Given the description of an element on the screen output the (x, y) to click on. 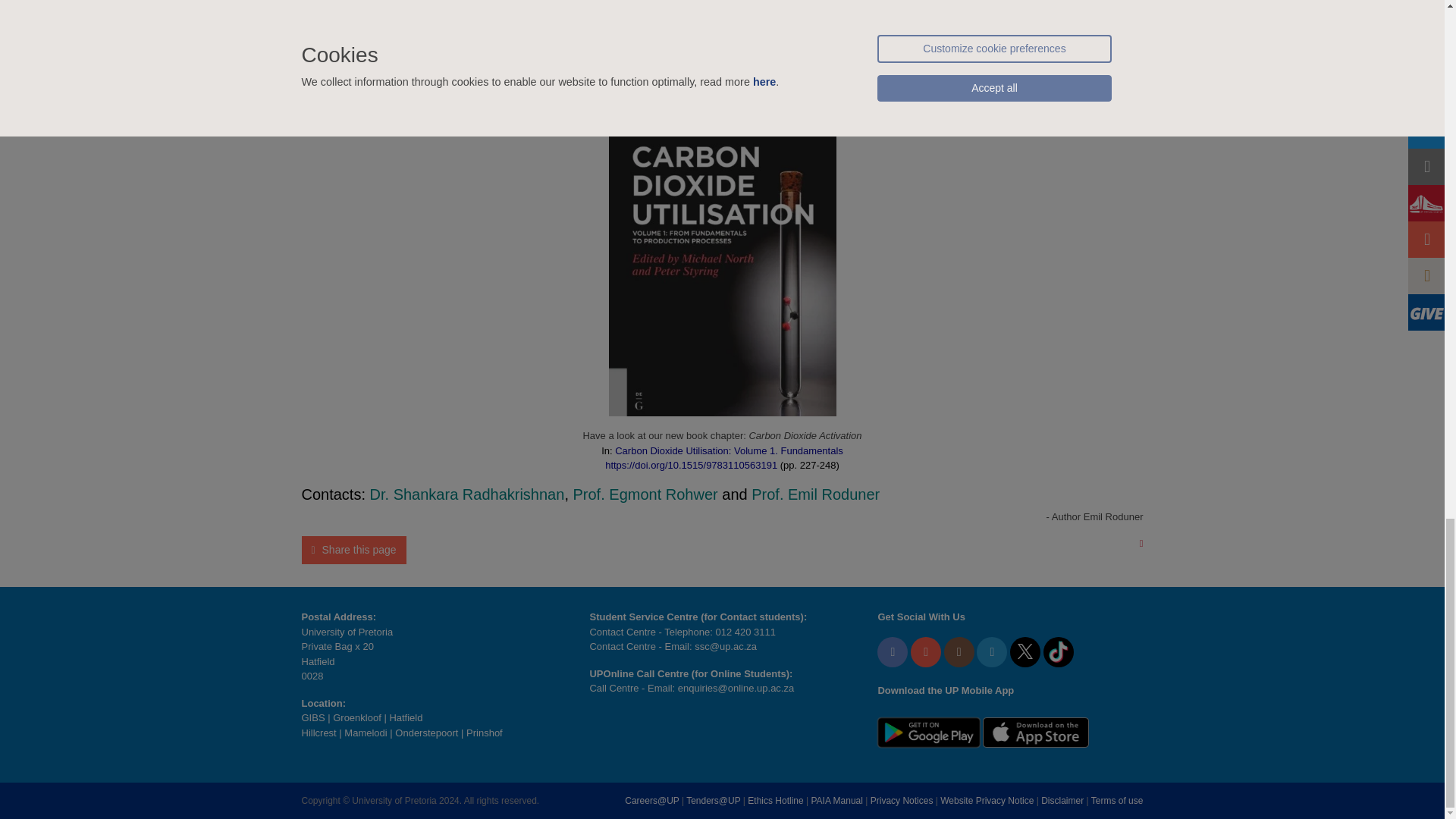
Link to landing page via DOI (521, 75)
